Given the description of an element on the screen output the (x, y) to click on. 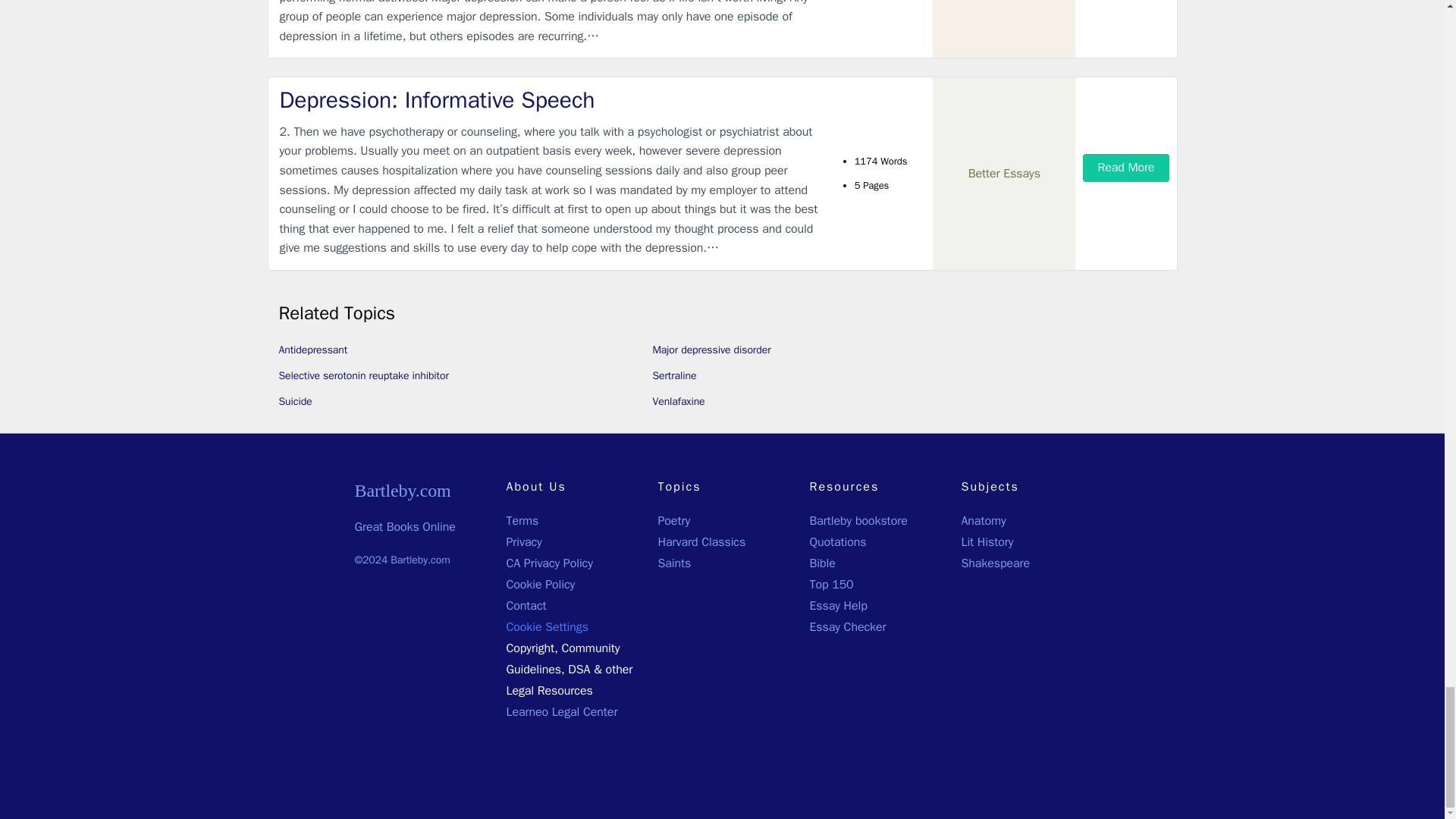
Sertraline (673, 375)
Antidepressant (313, 349)
Selective serotonin reuptake inhibitor (363, 375)
Major depressive disorder (711, 349)
Suicide (296, 400)
Venlafaxine (678, 400)
